Given the description of an element on the screen output the (x, y) to click on. 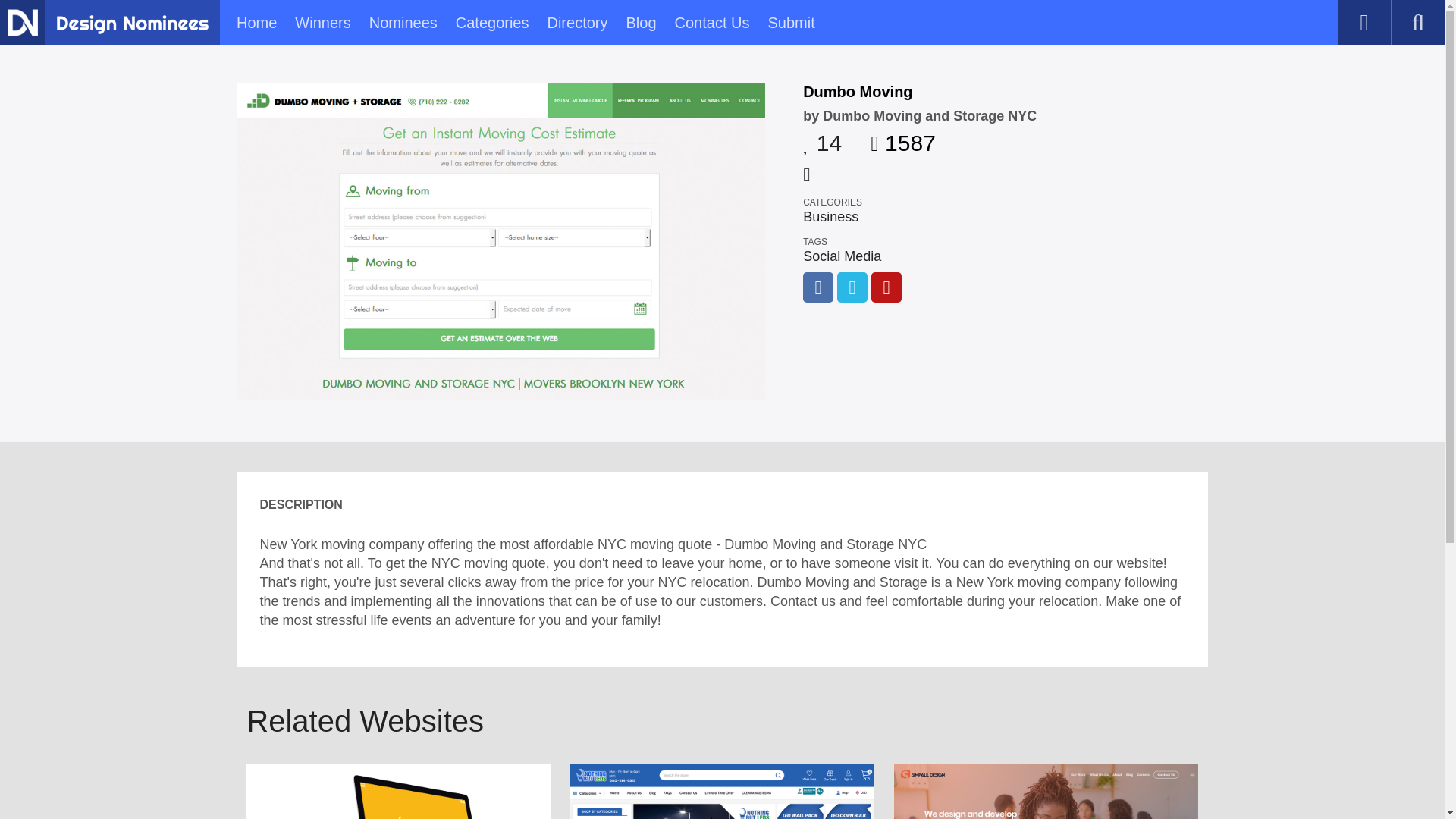
Directory (577, 22)
Submit (790, 22)
Categories (492, 22)
Contact Us (712, 22)
Design Nominees (22, 22)
Winners (322, 22)
14 (822, 137)
Nominees (403, 22)
Design Nominees (132, 24)
Business (831, 216)
